Given the description of an element on the screen output the (x, y) to click on. 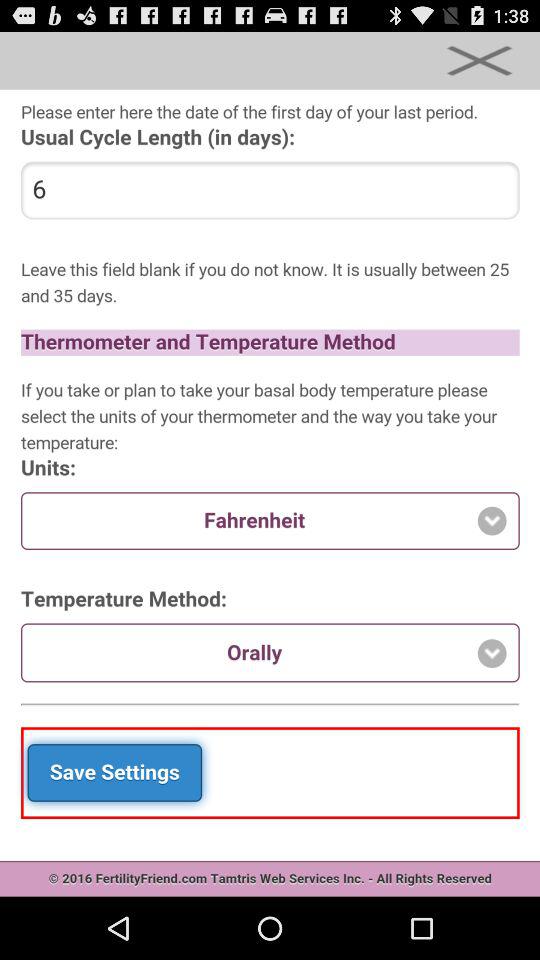
close button (479, 60)
